Given the description of an element on the screen output the (x, y) to click on. 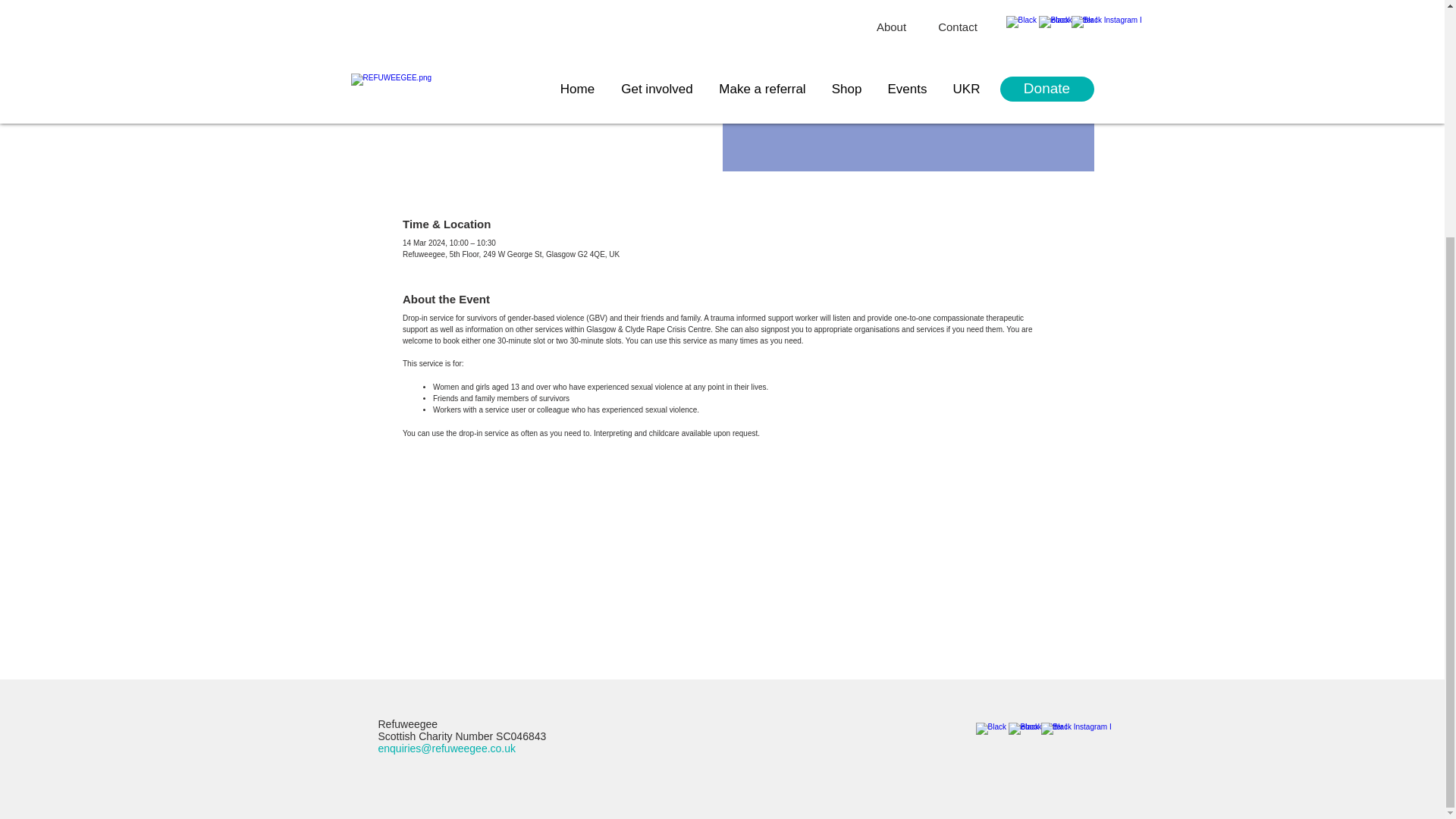
See other events (486, 34)
